Given the description of an element on the screen output the (x, y) to click on. 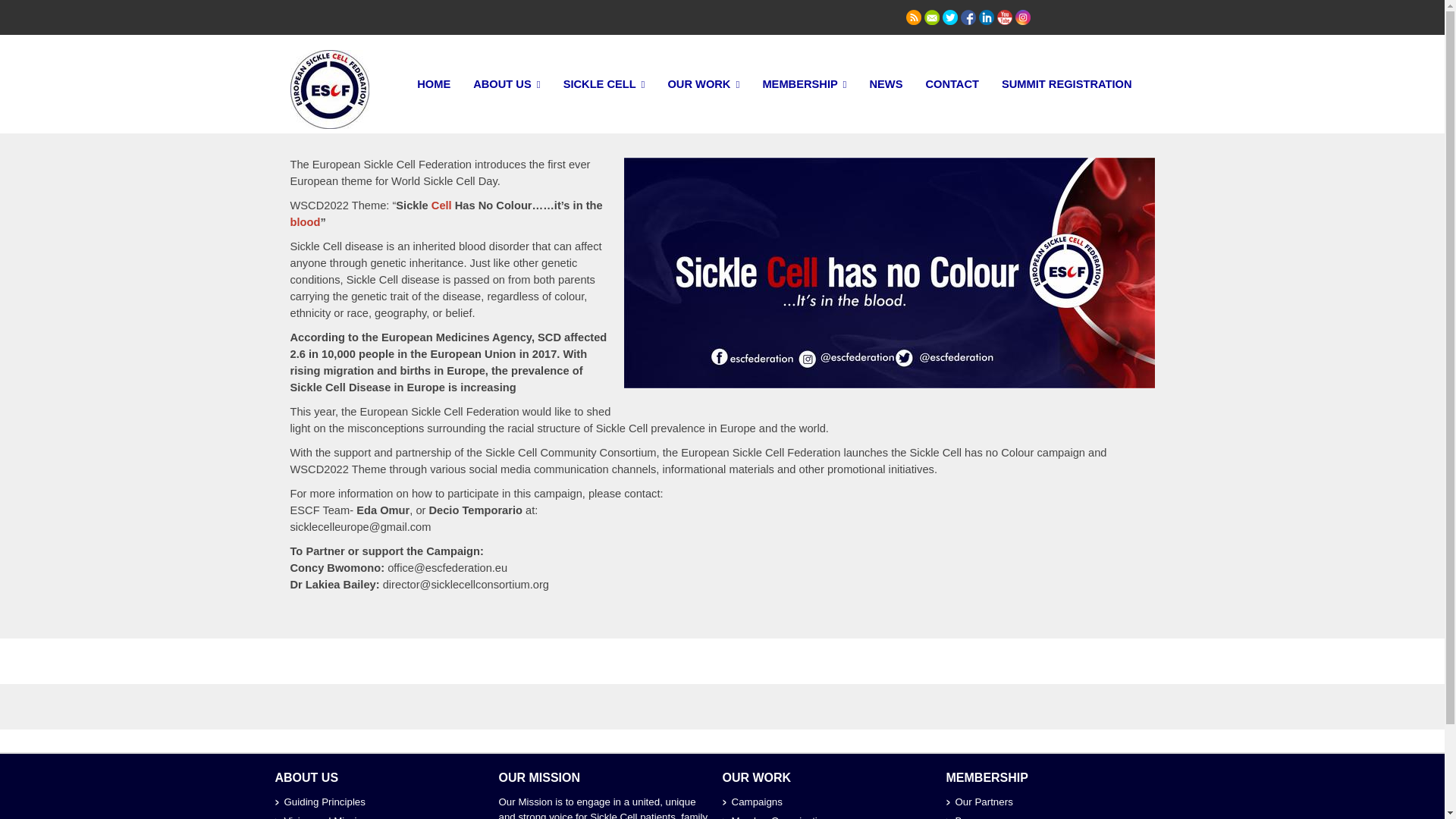
SUMMIT REGISTRATION (1066, 84)
NEWS (885, 84)
CONTACT (952, 84)
OUR WORK (703, 84)
MEMBERSHIP (804, 84)
SICKLE CELL (603, 84)
ABOUT US (506, 84)
HOME (433, 84)
